Given the description of an element on the screen output the (x, y) to click on. 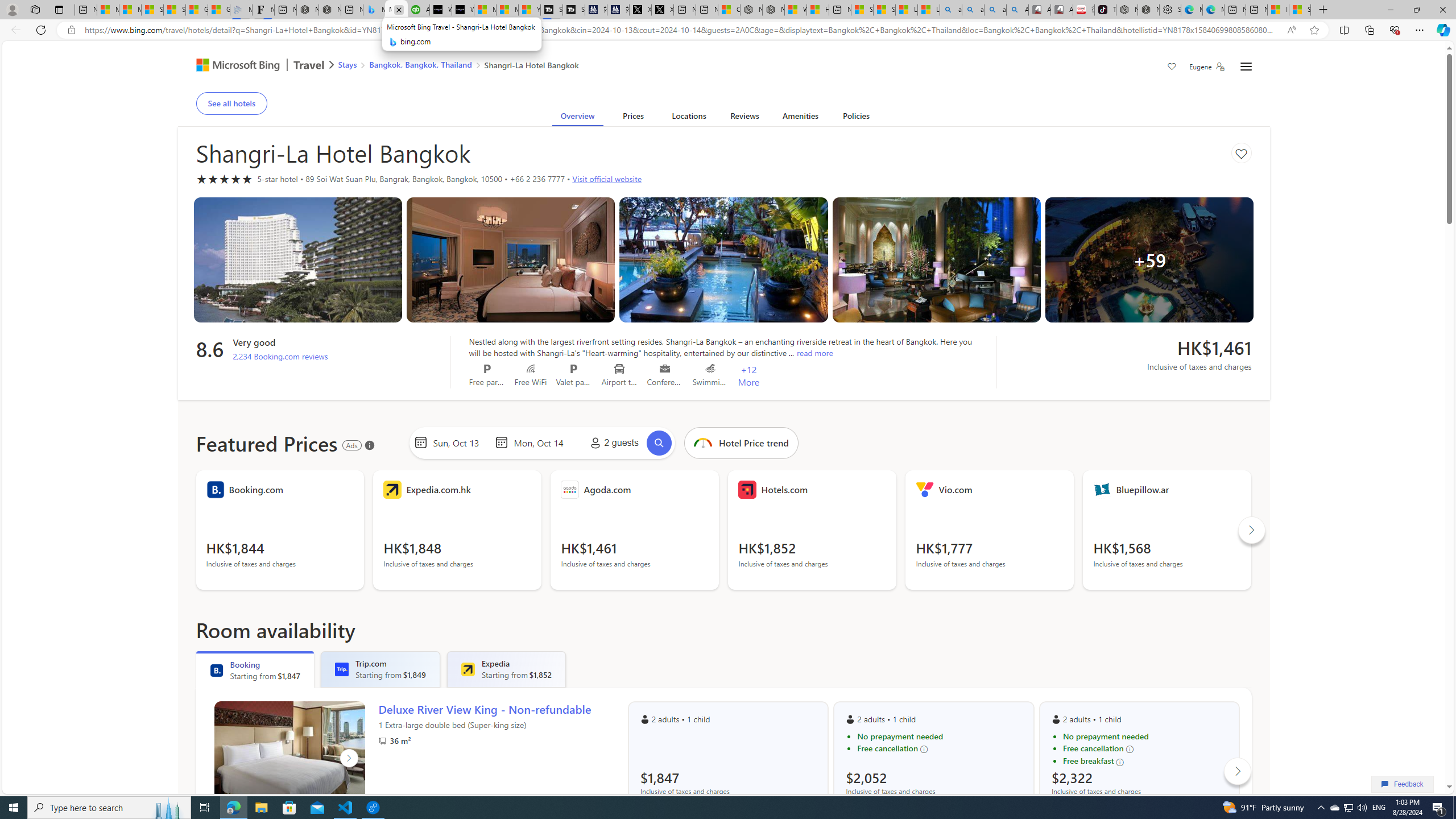
Partner Image (381, 740)
Visit official website (607, 178)
Collections (1369, 29)
Wildlife - MSN (795, 9)
I Gained 20 Pounds of Muscle in 30 Days! | Watch (1278, 9)
What's the best AI voice generator? - voice.ai (462, 9)
New tab (1256, 9)
Browser essentials (1394, 29)
Class: trvl-hub-header (723, 65)
Microsoft Bing Travel - Stays in Bangkok, Bangkok, Thailand (374, 9)
Address and search bar (680, 29)
TripDotCom Trip.com Starting from $1,849 (379, 669)
Save (1171, 67)
